Given the description of an element on the screen output the (x, y) to click on. 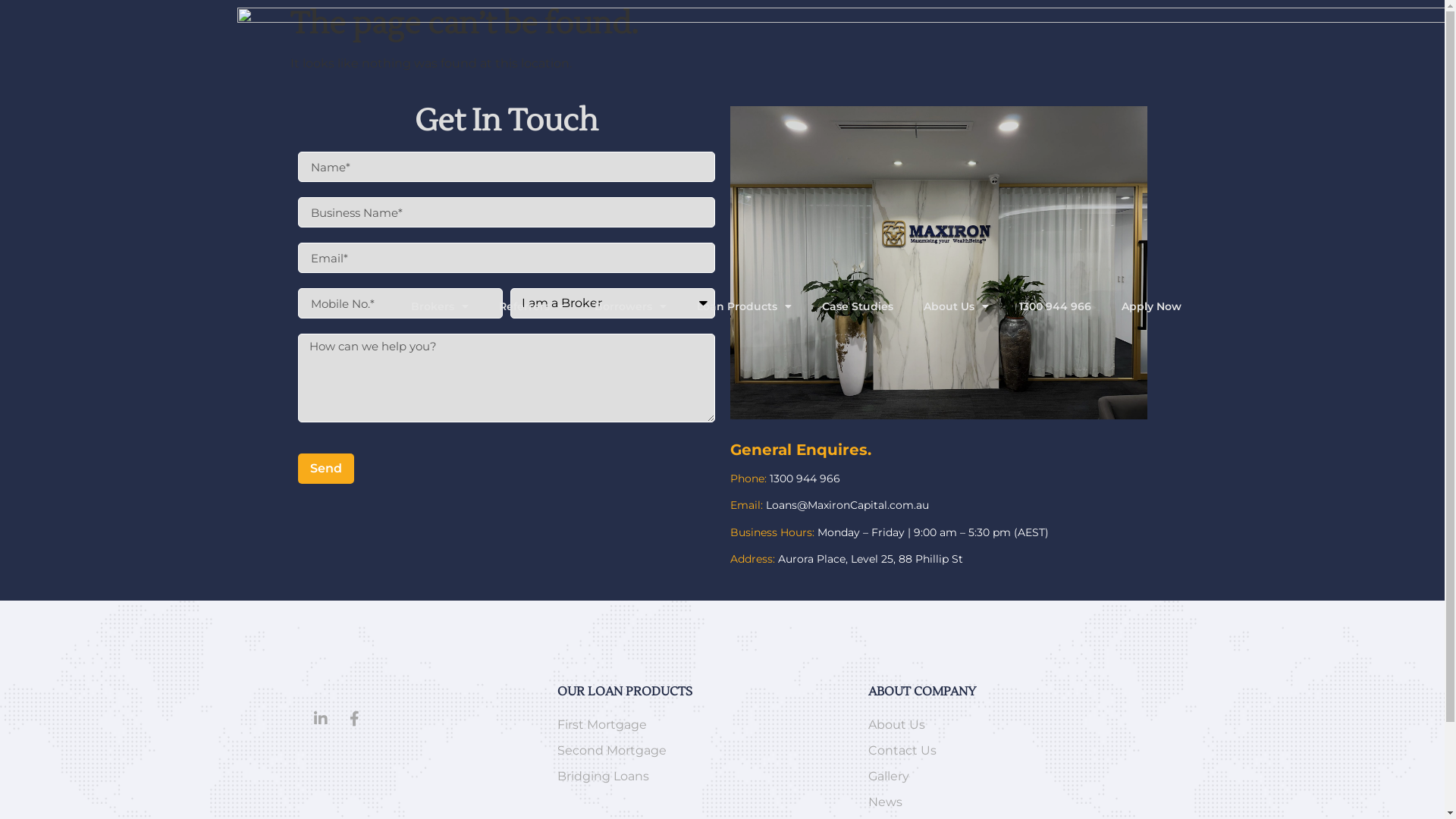
About Us Element type: text (956, 305)
Gallery Element type: text (1001, 776)
Second Mortgage Element type: text (705, 750)
Borrowers Element type: text (630, 305)
Contact Us Element type: text (1001, 750)
Referrers Element type: text (531, 305)
News Element type: text (1001, 802)
First Mortgage Element type: text (705, 724)
Apply Now Element type: text (1151, 305)
 Loans@MaxironCapital.com.au Element type: text (845, 504)
Bridging Loans Element type: text (705, 776)
1300 944 966  Element type: text (805, 478)
Case Studies Element type: text (857, 305)
Loan Products Element type: text (743, 305)
Send Element type: text (325, 468)
About Us Element type: text (1001, 724)
1300 944 966 Element type: text (1055, 305)
Brokers Element type: text (439, 305)
